Given the description of an element on the screen output the (x, y) to click on. 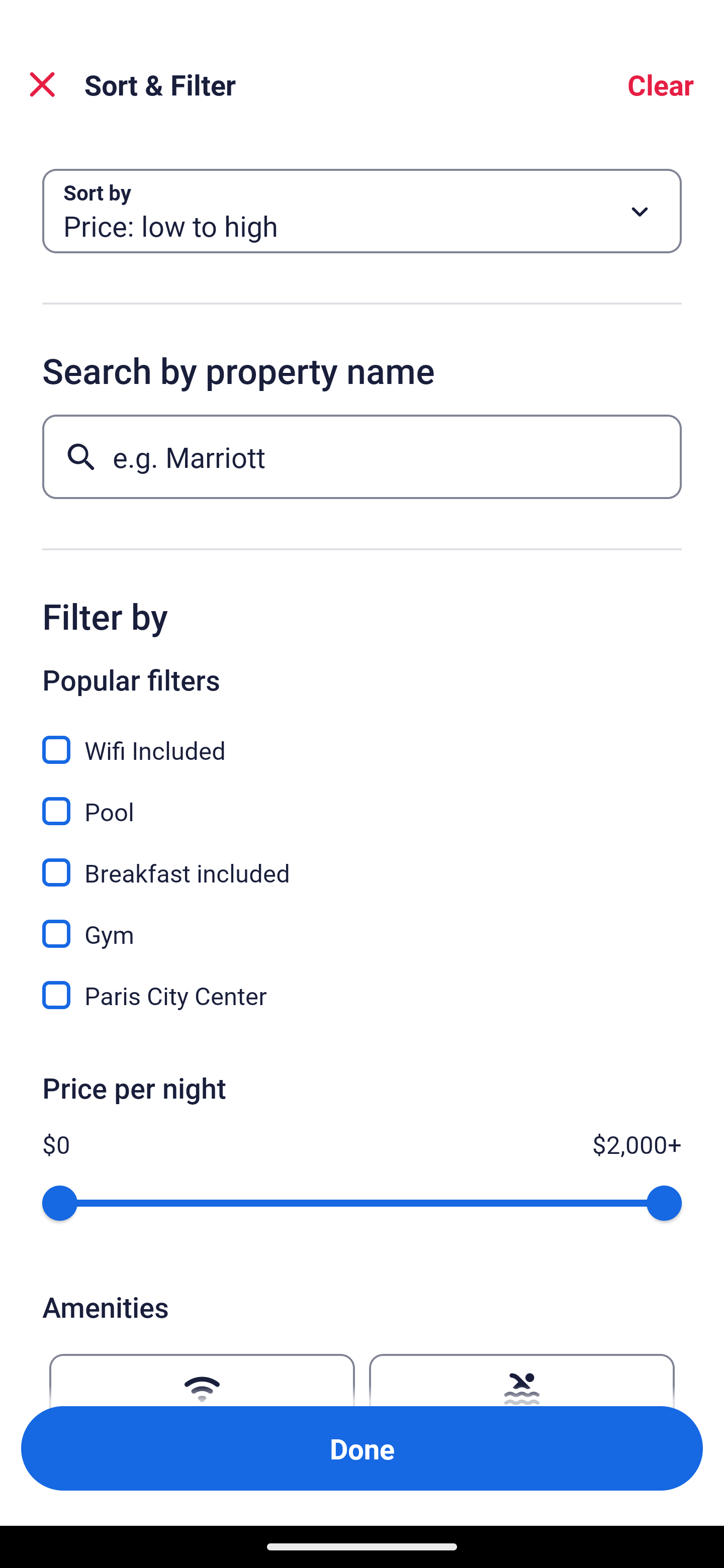
Close Sort and Filter (42, 84)
Clear (660, 84)
Sort by Button Price: low to high (361, 211)
e.g. Marriott Button (361, 455)
Wifi Included, Wifi Included (361, 738)
Pool, Pool (361, 800)
Breakfast included, Breakfast included (361, 861)
Gym, Gym (361, 922)
Paris City Center, Paris City Center (361, 995)
Apply and close Sort and Filter Done (361, 1448)
